Given the description of an element on the screen output the (x, y) to click on. 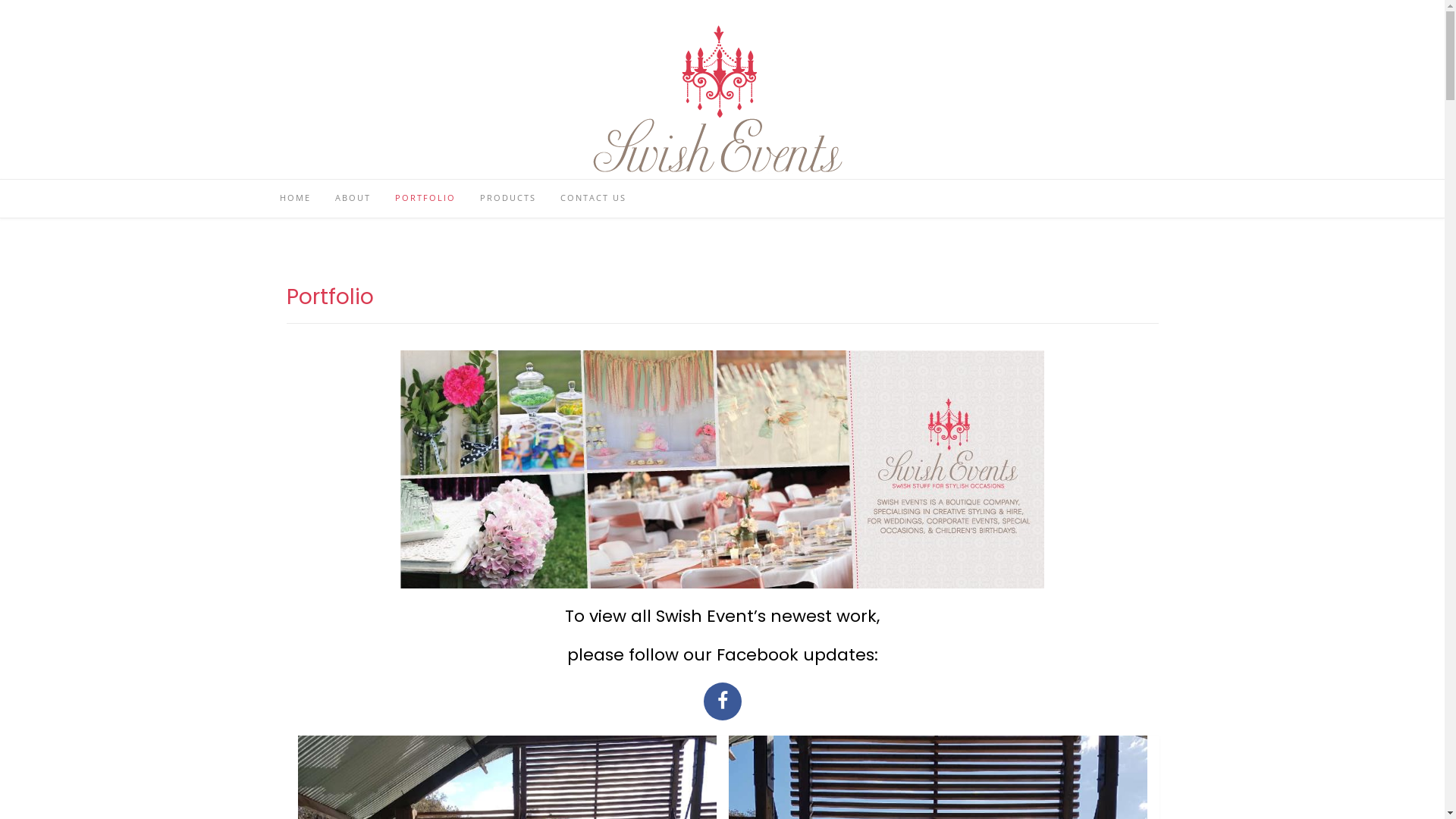
CONTACT US Element type: text (592, 198)
ABOUT Element type: text (352, 198)
PORTFOLIO Element type: text (424, 198)
HOME Element type: text (294, 198)
PRODUCTS Element type: text (507, 198)
